Given the description of an element on the screen output the (x, y) to click on. 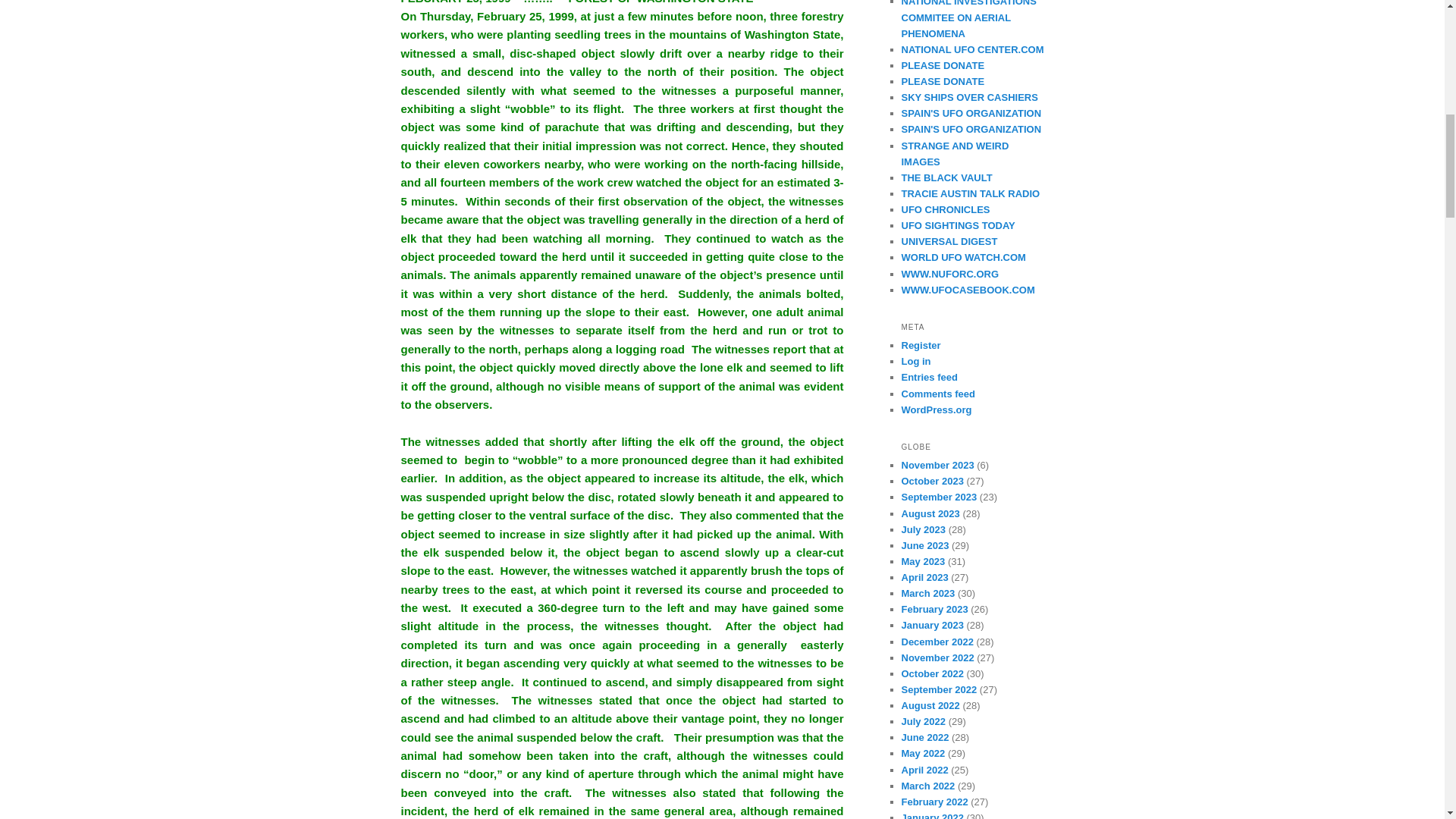
LEADING UFO ORGANIZATION (968, 19)
PLEASE MAKE A DONATION BY PAY PAL (942, 65)
